Given the description of an element on the screen output the (x, y) to click on. 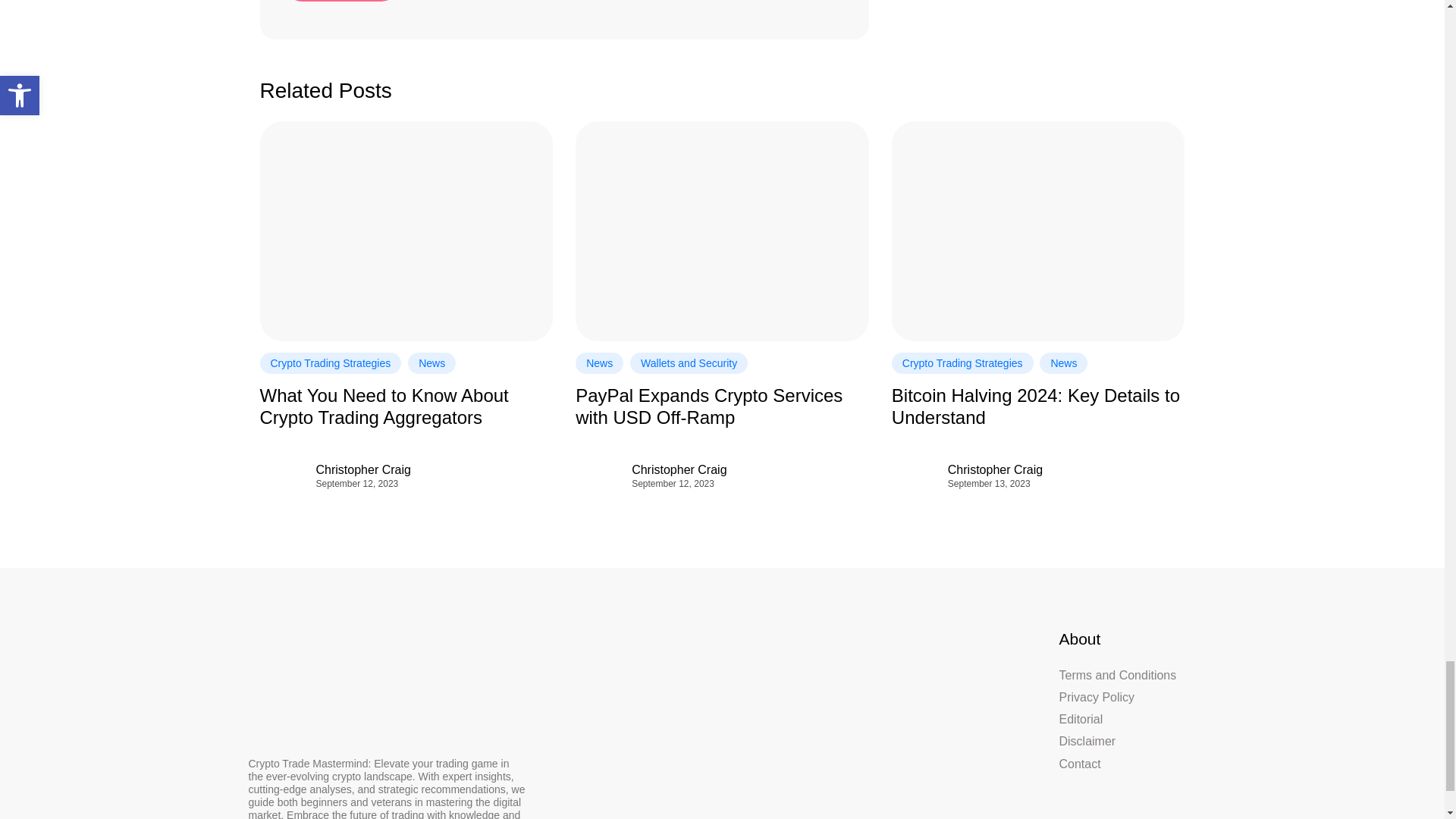
Post Comment (340, 0)
Post Comment (340, 0)
